Given the description of an element on the screen output the (x, y) to click on. 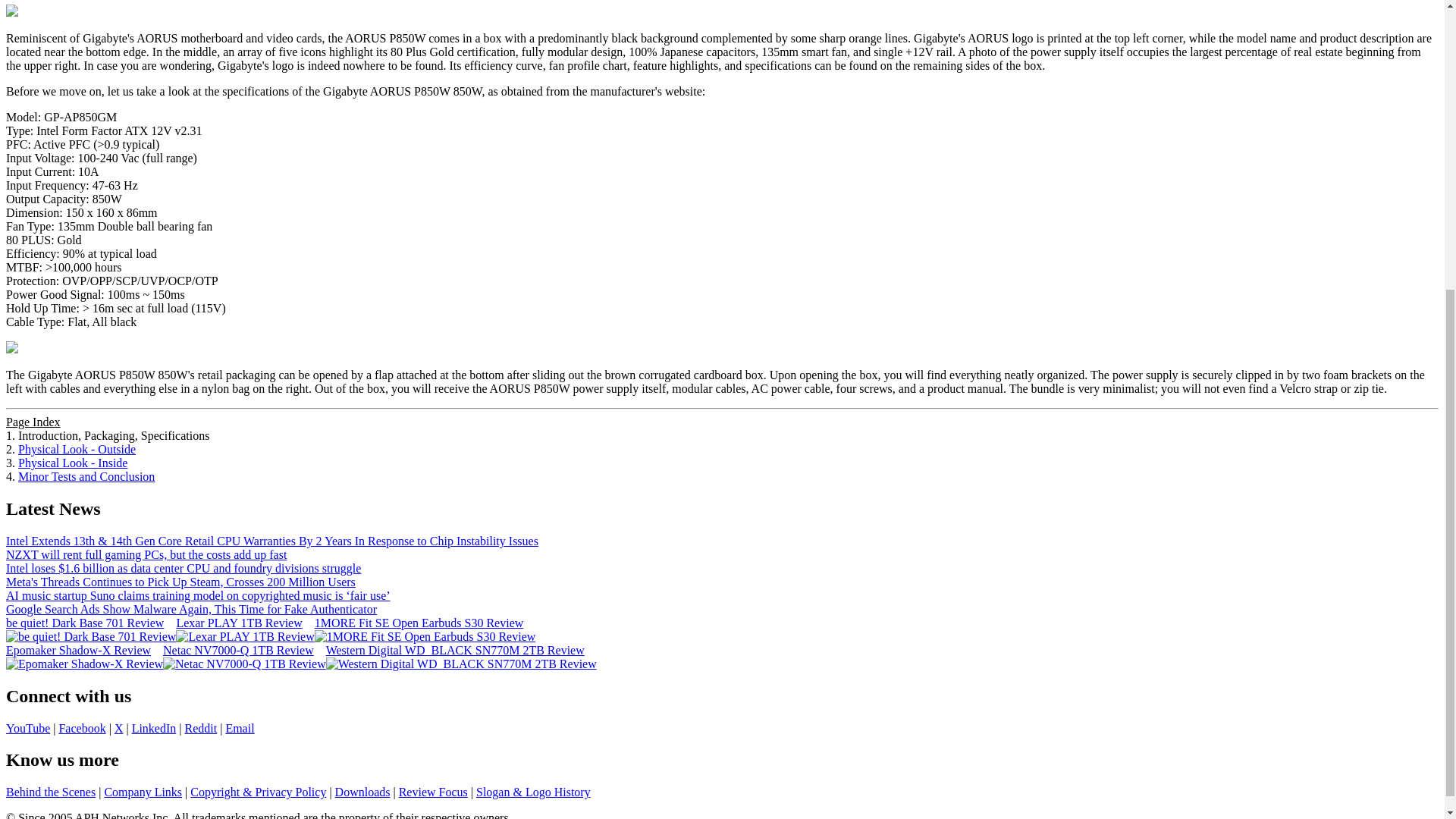
YouTube (27, 727)
Netac NV7000-Q 1TB Review (238, 649)
Physical Look - Inside (72, 462)
NZXT will rent full gaming PCs, but the costs add up fast (145, 554)
Physical Look - Outside (76, 449)
Lexar PLAY 1TB Review (238, 622)
Epomaker Shadow-X Review (78, 649)
LinkedIn (154, 727)
